Given the description of an element on the screen output the (x, y) to click on. 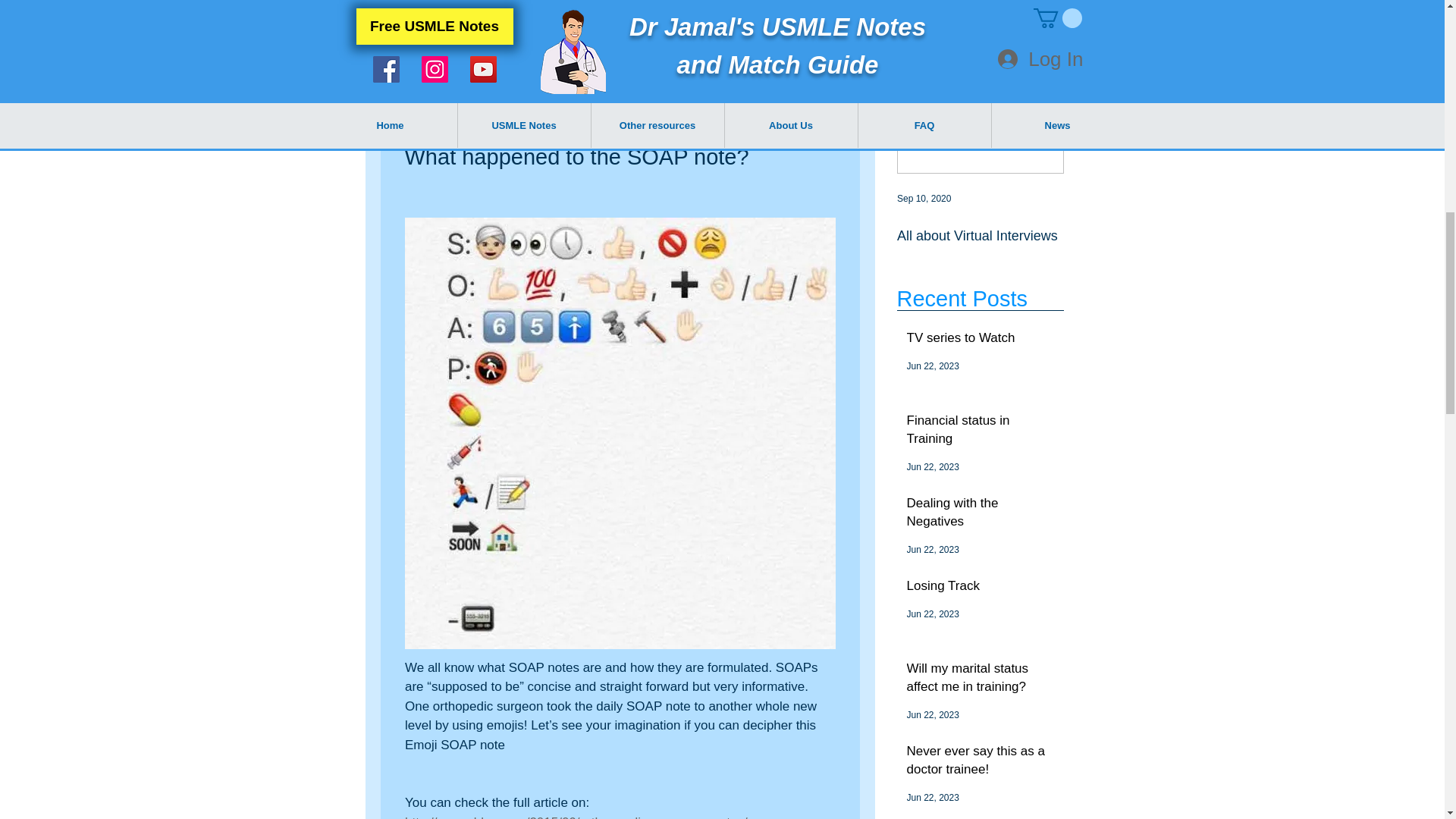
Jun 22, 2023 (933, 366)
Sep 3, 2020 (1087, 198)
Dealing with the Negatives (980, 515)
Financial status in Training (980, 432)
Facebook Like (846, 49)
Jun 22, 2023 (933, 797)
Losing Track (980, 589)
Jun 22, 2023 (933, 549)
Sep 10, 2020 (923, 198)
Latest requirements for ECFMG certification (1146, 244)
Never ever say this as a doctor trainee! (980, 763)
Jun 22, 2023 (933, 614)
Jun 22, 2023 (933, 466)
All about Virtual Interviews (979, 236)
Apr 23, 2018 (434, 114)
